Given the description of an element on the screen output the (x, y) to click on. 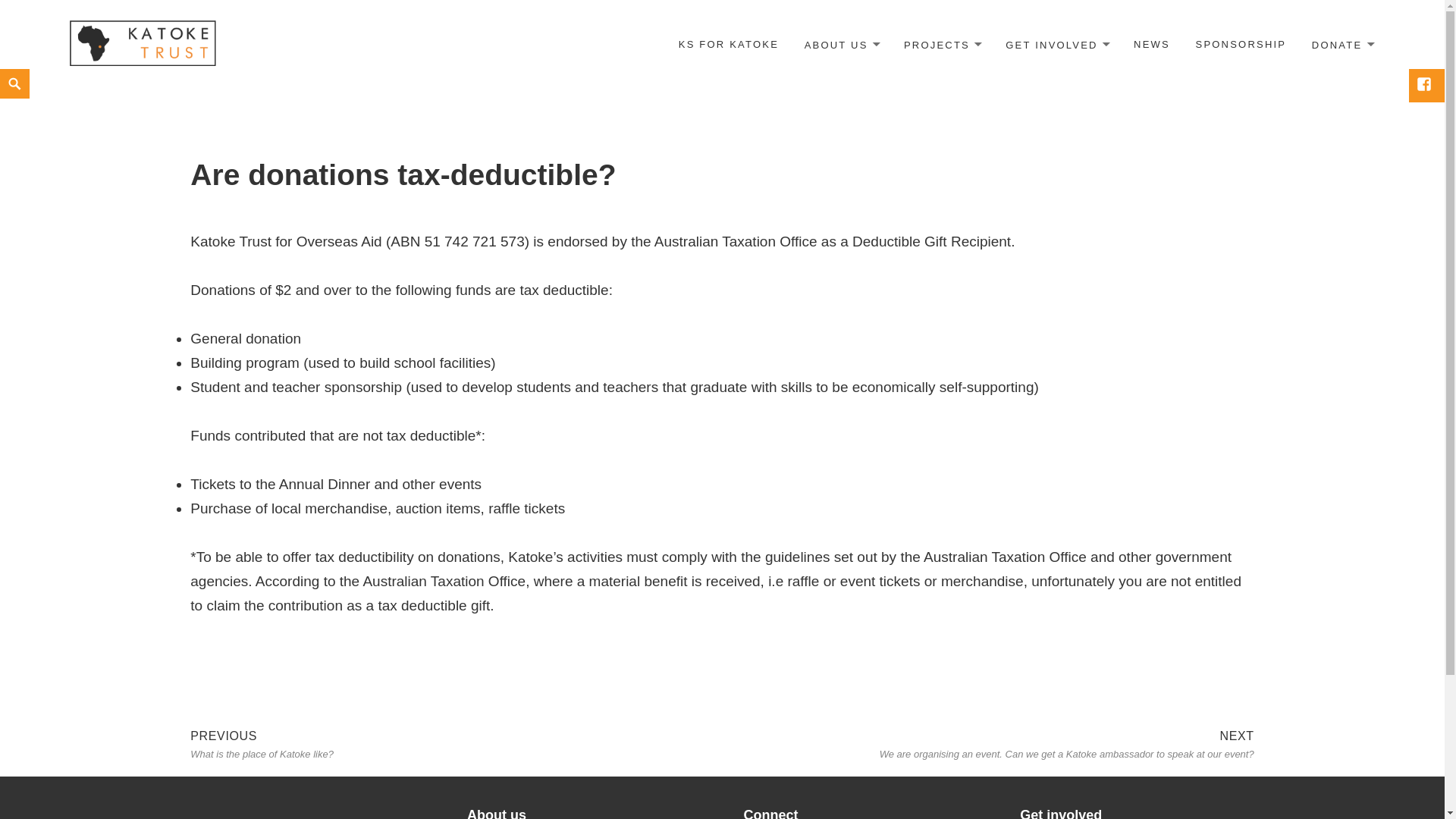
KS FOR KATOKE (728, 44)
SPONSORSHIP (1241, 44)
NEWS (1151, 44)
DONATE (1342, 45)
GET INVOLVED (1056, 45)
ABOUT US (456, 741)
